Given the description of an element on the screen output the (x, y) to click on. 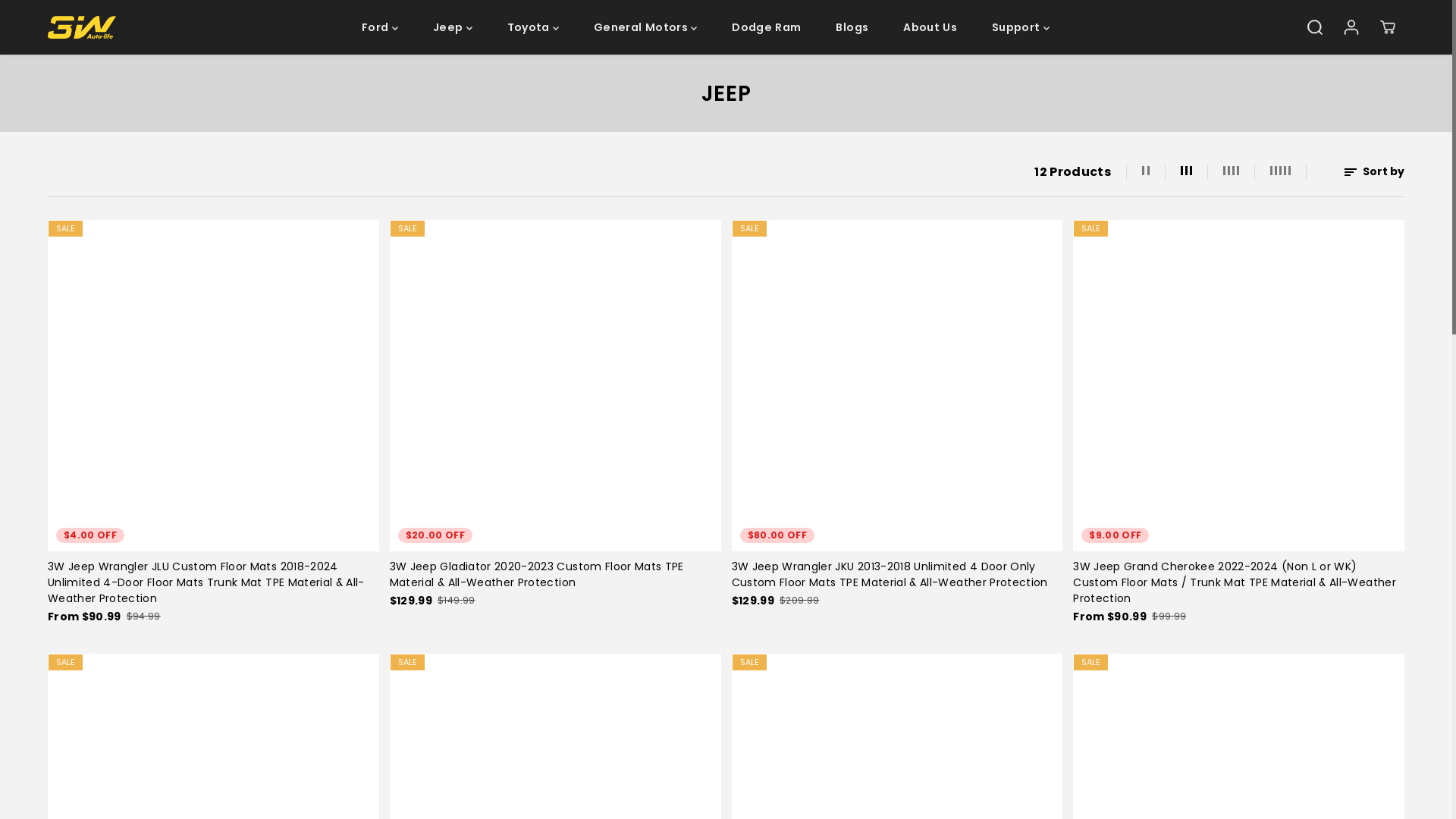
Blogs Element type: text (851, 27)
Support Element type: text (1020, 27)
Cart Element type: hover (1387, 26)
Log in Element type: hover (1351, 26)
General Motors Element type: text (644, 27)
Jeep Element type: text (452, 27)
About Us Element type: text (929, 27)
Ford Element type: text (379, 27)
Sort by Element type: text (1374, 171)
Dodge Ram Element type: text (765, 27)
Search Element type: hover (1314, 26)
Toyota Element type: text (532, 27)
